Given the description of an element on the screen output the (x, y) to click on. 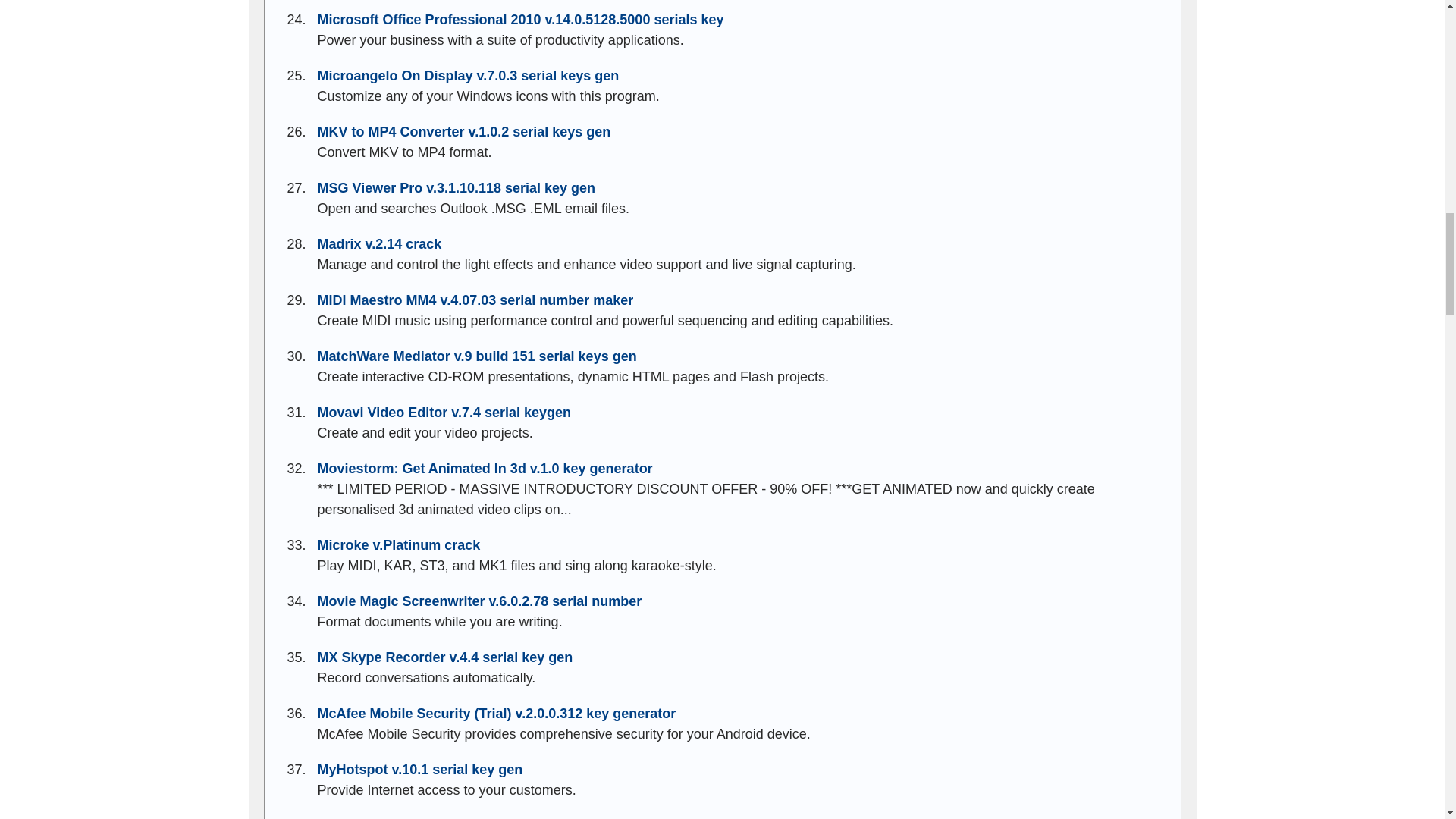
Madrix v.2.14 crack (379, 243)
MSG Viewer Pro v.3.1.10.118 serial key gen (456, 187)
MIDI Maestro MM4 v.4.07.03 serial number maker (475, 299)
Movavi Video Editor v.7.4 serial keygen (443, 412)
Microangelo On Display v.7.0.3 serial keys gen (467, 75)
MKV to MP4 Converter v.1.0.2 serial keys gen (463, 131)
MatchWare Mediator v.9 build 151 serial keys gen (476, 355)
Microke v.Platinum crack (398, 544)
Moviestorm: Get Animated In 3d v.1.0 key generator (484, 468)
